Given the description of an element on the screen output the (x, y) to click on. 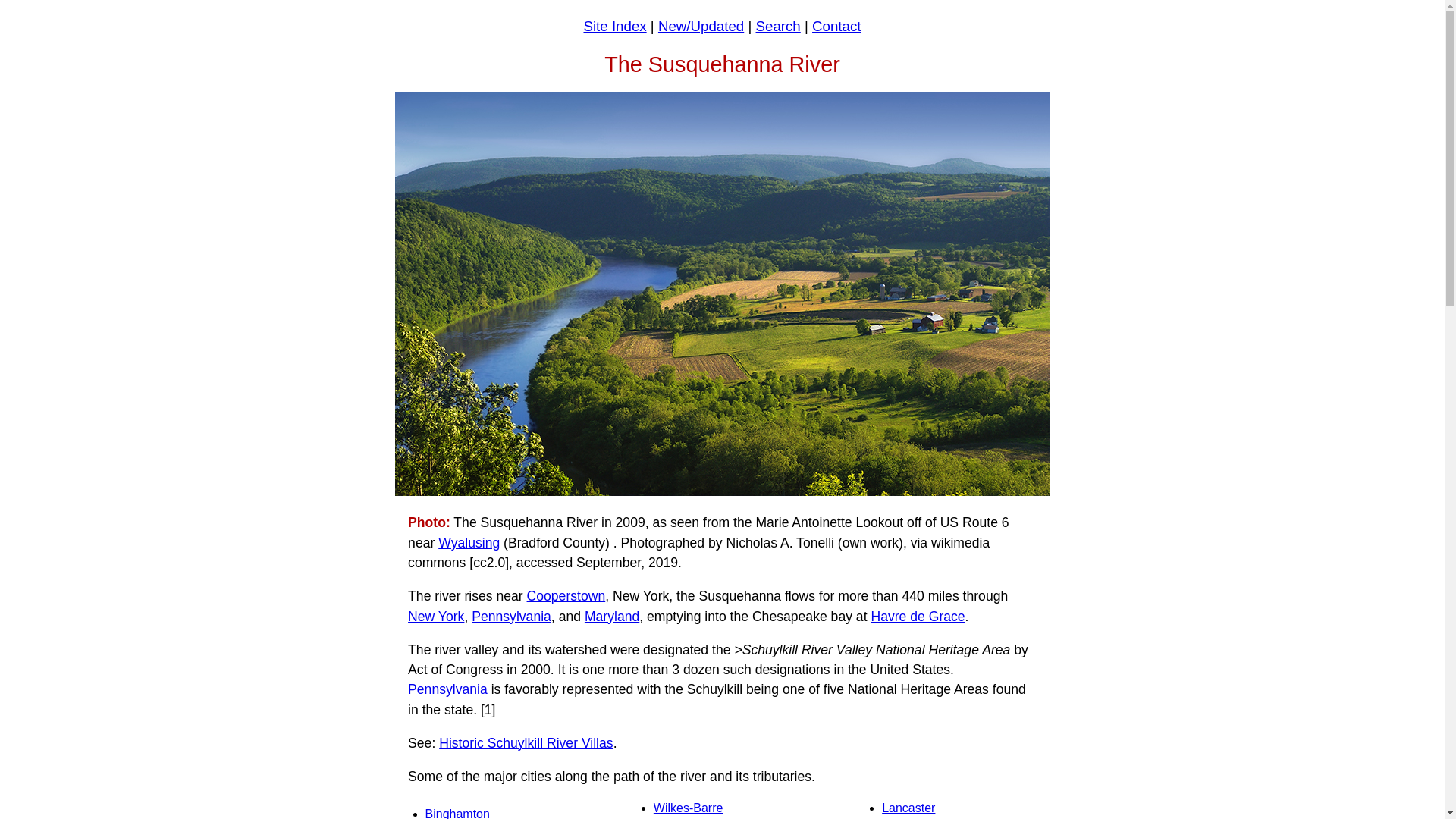
Pennsylvania (511, 616)
Wyalusing (468, 542)
Binghamton (457, 813)
Site Index (614, 26)
Search (777, 26)
Cooperstown (566, 595)
Pennsylvania (447, 688)
Historic Schuylkill River Villas (525, 743)
New York (435, 616)
Contact (836, 26)
